Given the description of an element on the screen output the (x, y) to click on. 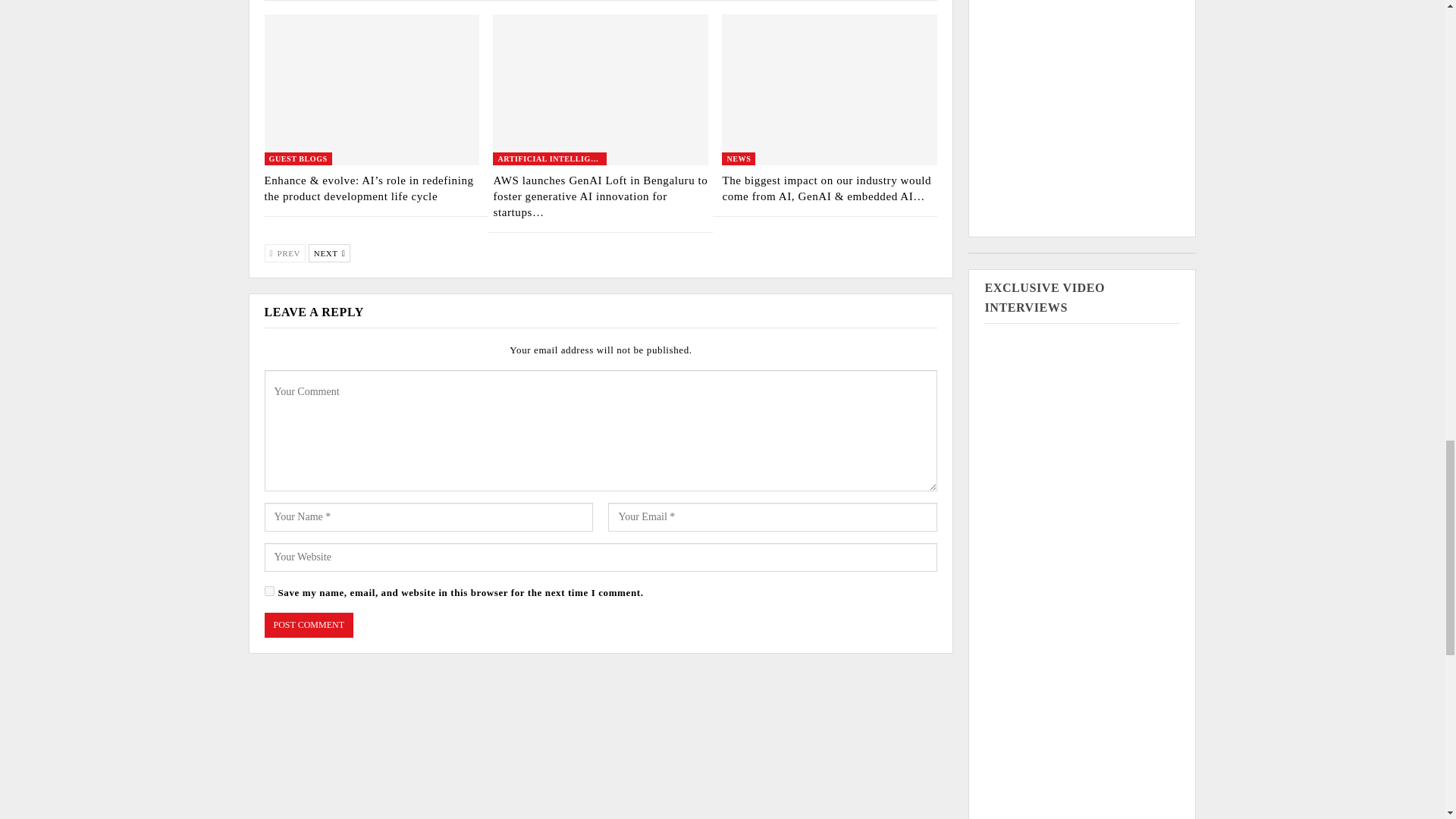
Post Comment (307, 625)
yes (268, 591)
Previous (284, 253)
